Given the description of an element on the screen output the (x, y) to click on. 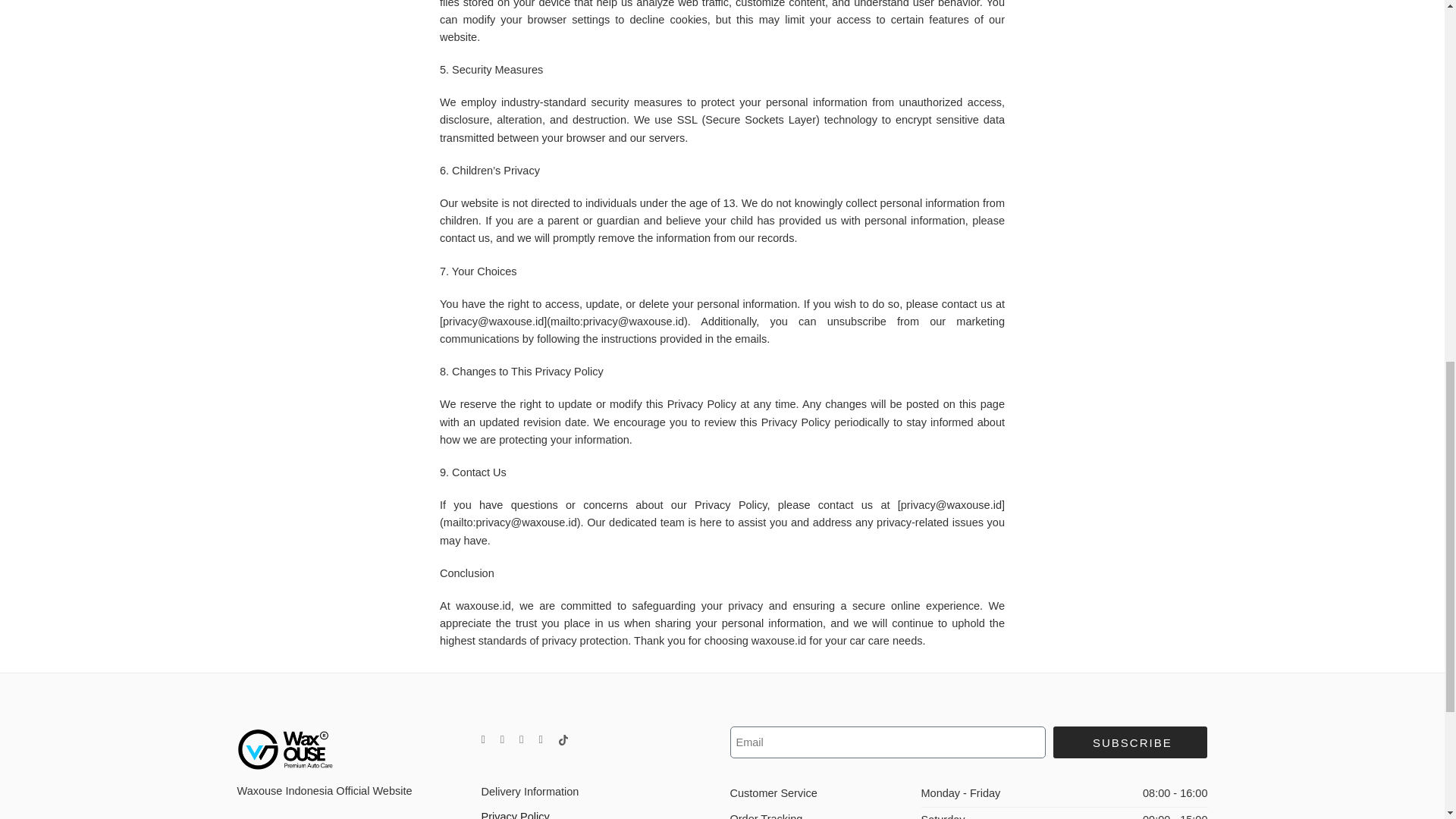
Delivery Information (597, 791)
Follow us on Tiktok (563, 739)
Privacy Policy (597, 811)
